Given the description of an element on the screen output the (x, y) to click on. 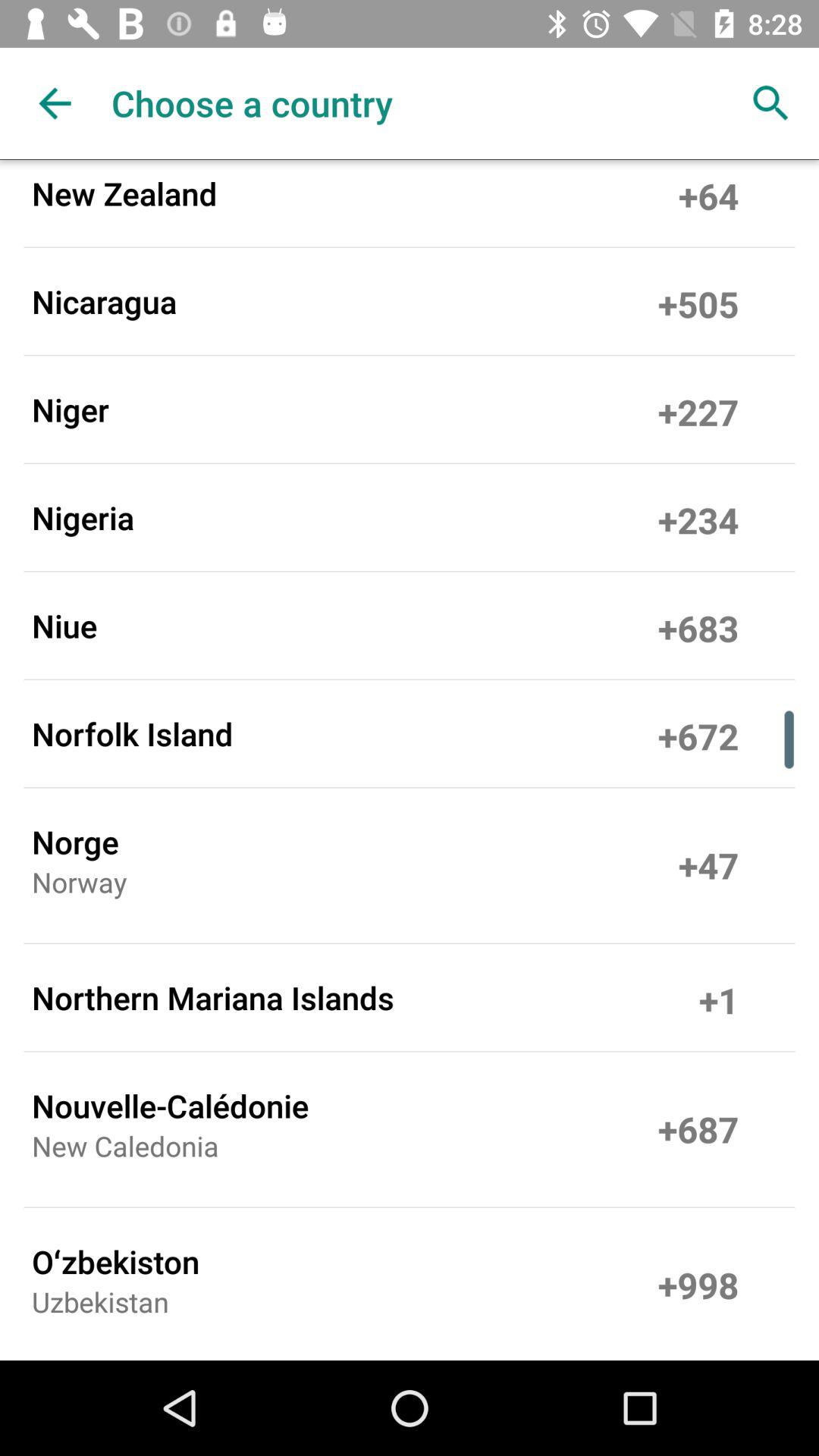
swipe until the niger icon (70, 409)
